Given the description of an element on the screen output the (x, y) to click on. 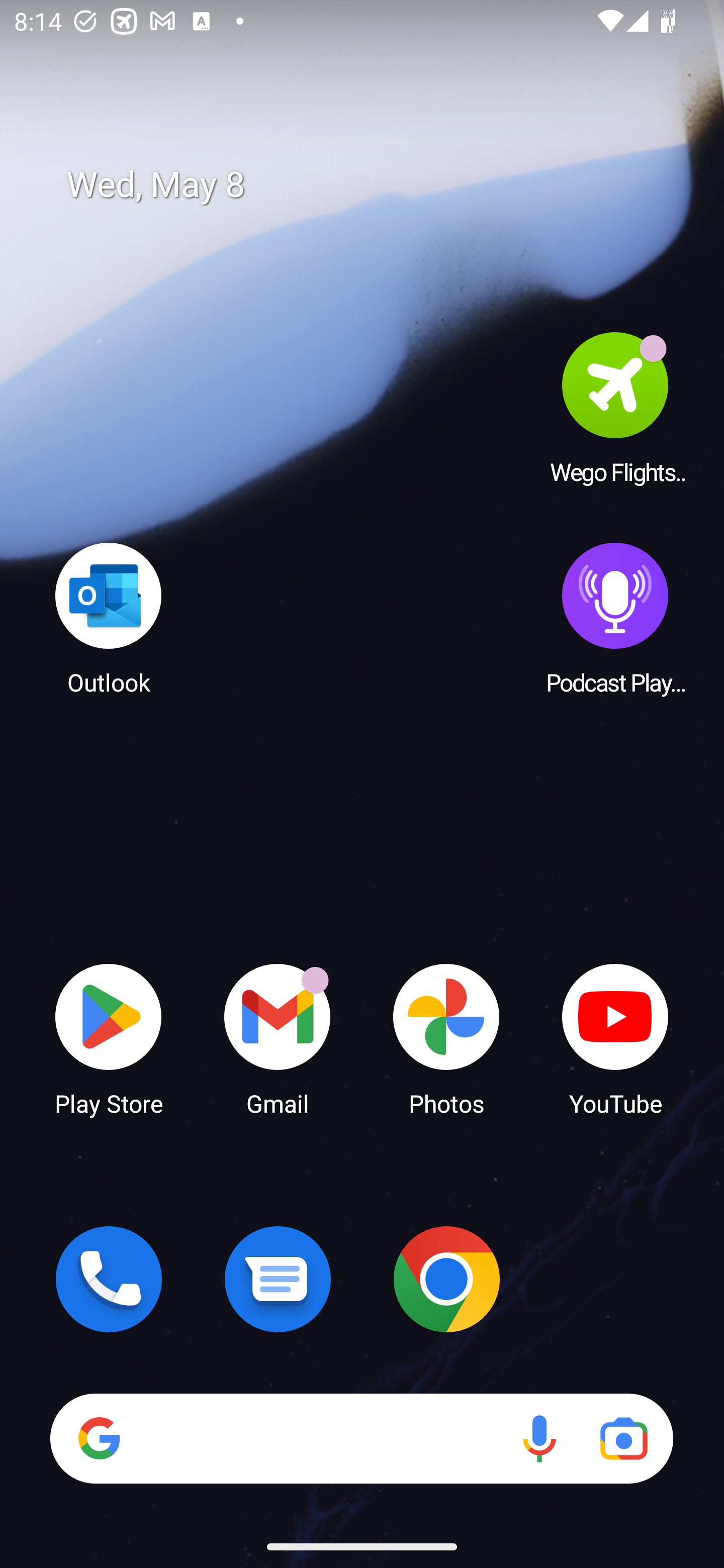
Wed, May 8 (375, 184)
Outlook (108, 617)
Podcast Player (615, 617)
Play Store (108, 1038)
Gmail Gmail has 17 notifications (277, 1038)
Photos (445, 1038)
YouTube (615, 1038)
Phone (108, 1279)
Messages (277, 1279)
Chrome (446, 1279)
Search Voice search Google Lens (361, 1438)
Voice search (539, 1438)
Google Lens (623, 1438)
